Given the description of an element on the screen output the (x, y) to click on. 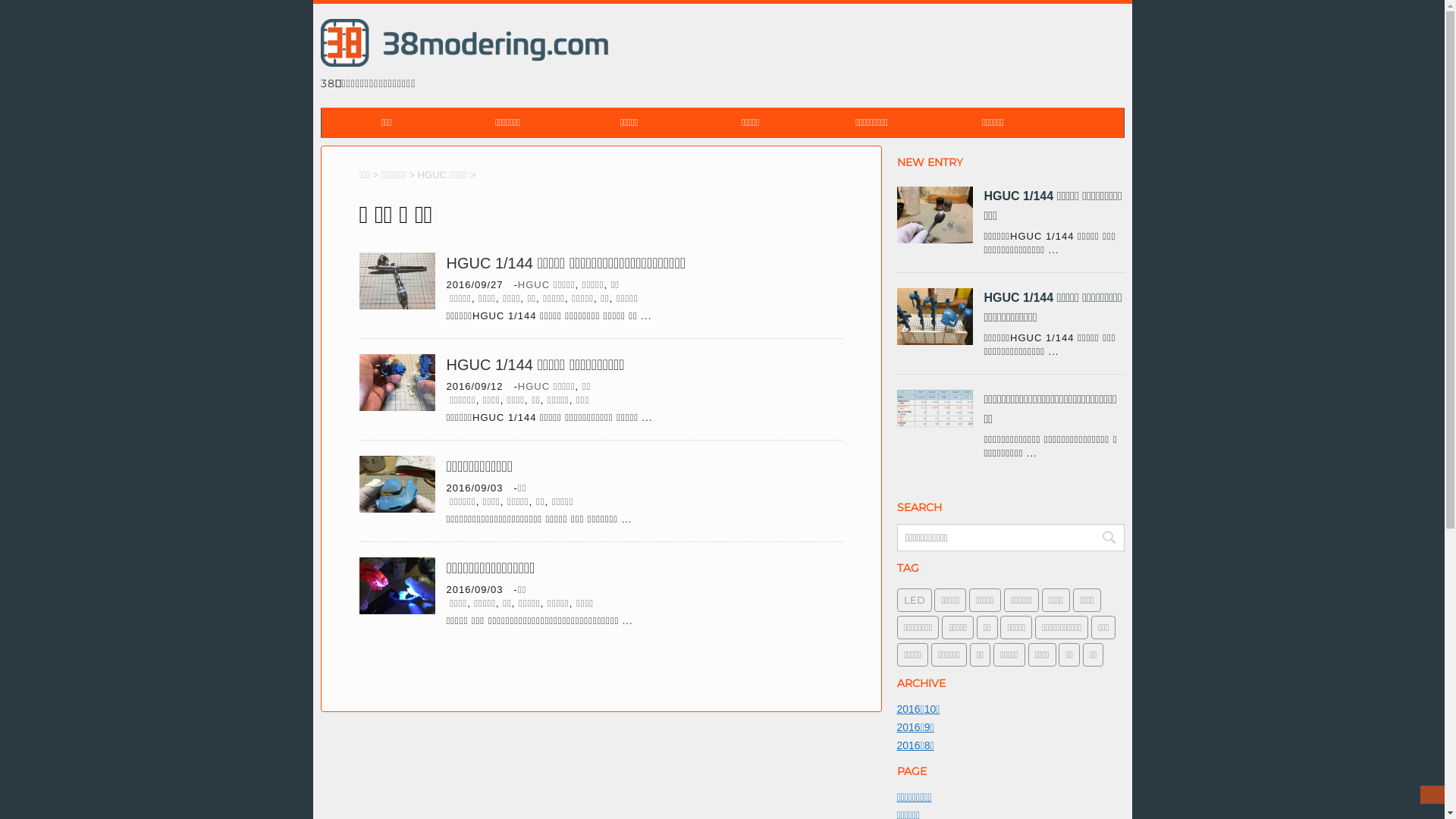
LED Element type: text (913, 599)
